Given the description of an element on the screen output the (x, y) to click on. 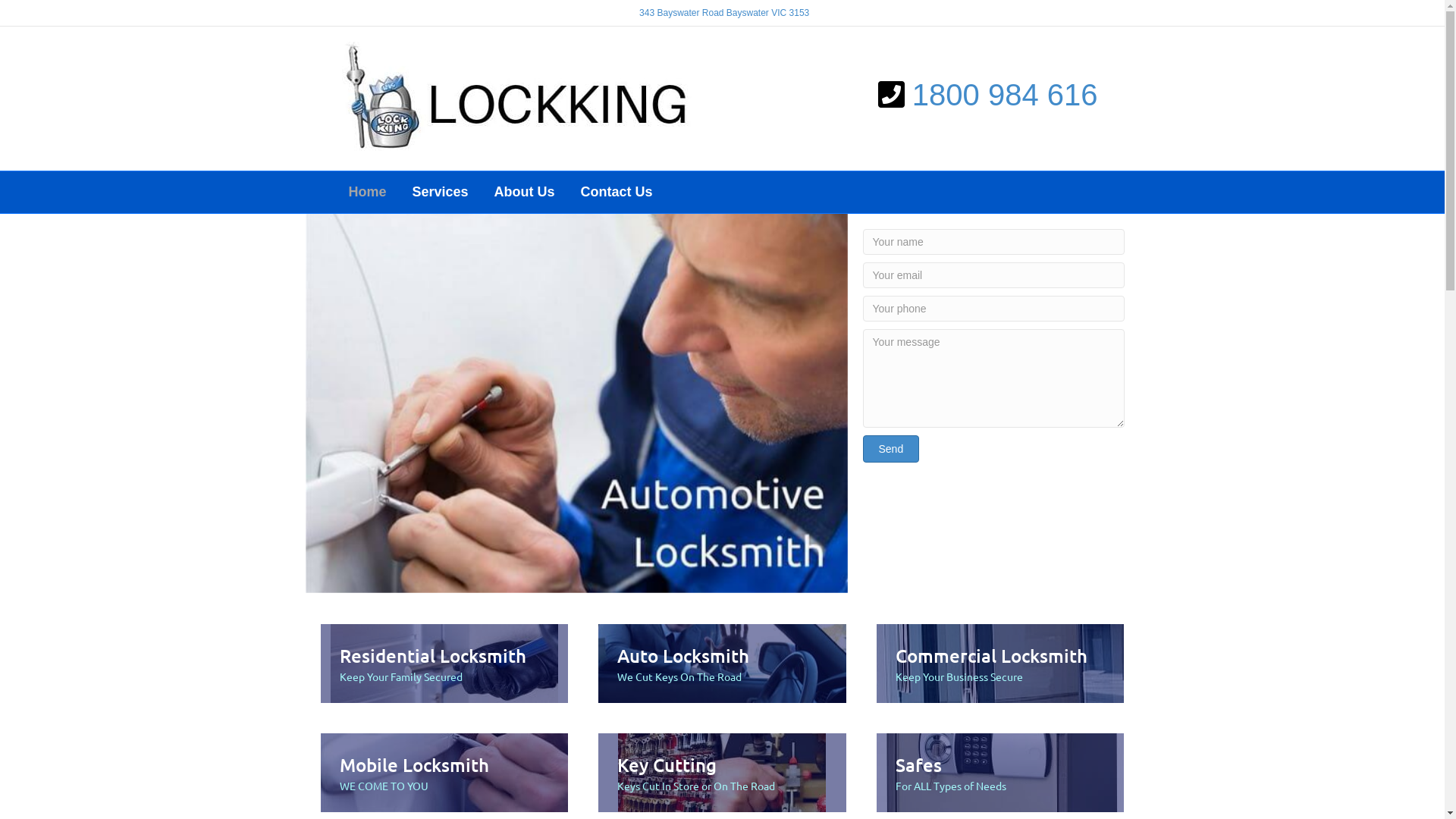
1800 984 616 Element type: text (1005, 94)
Send Element type: text (890, 448)
Services Element type: text (440, 192)
343 Bayswater Road Bayswater VIC 3153 Element type: text (724, 12)
Home Element type: text (366, 192)
About Us Element type: text (524, 192)
Contact Us Element type: text (616, 192)
